Given the description of an element on the screen output the (x, y) to click on. 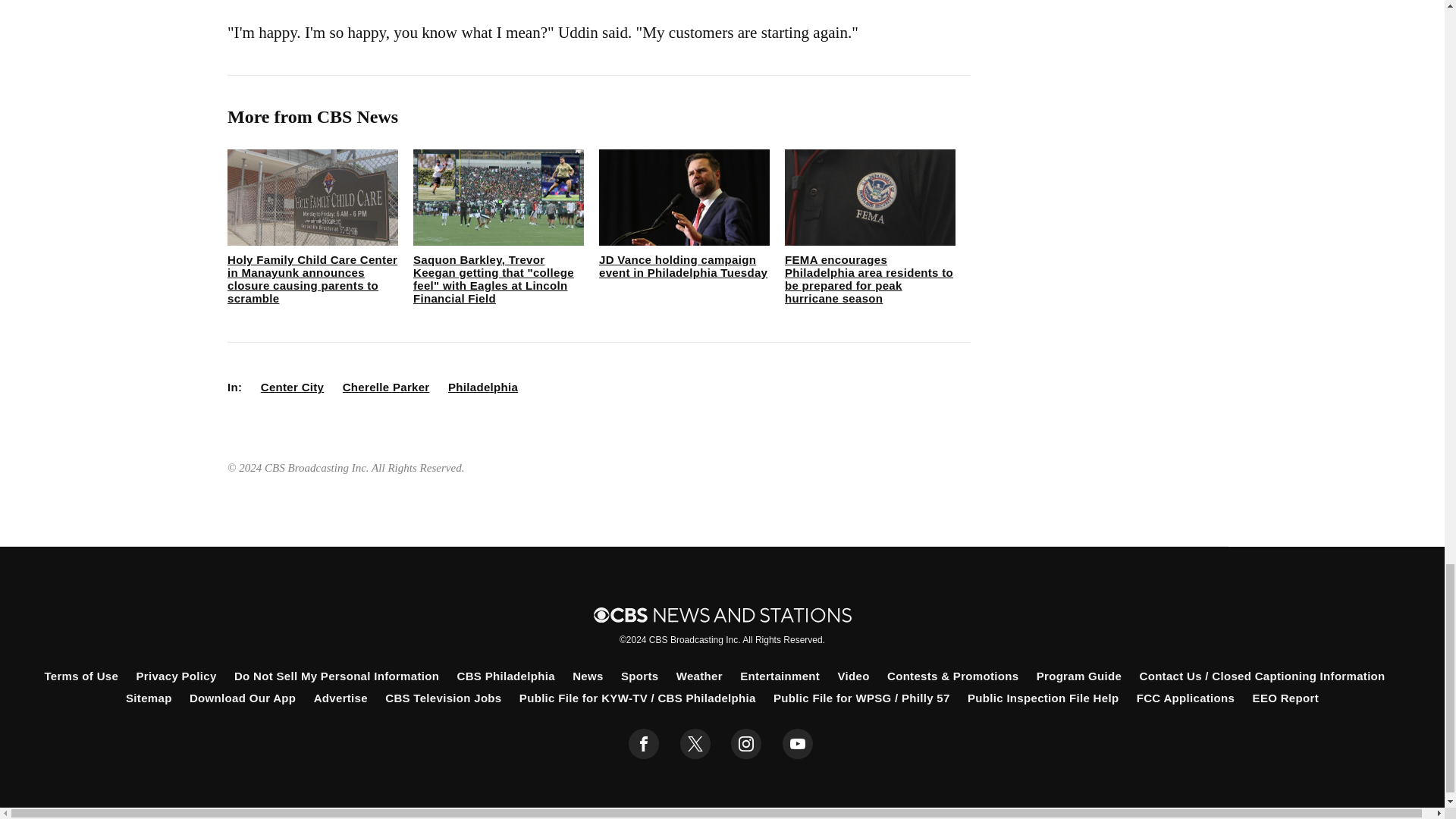
instagram (745, 743)
twitter (694, 743)
facebook (643, 743)
youtube (797, 743)
